Given the description of an element on the screen output the (x, y) to click on. 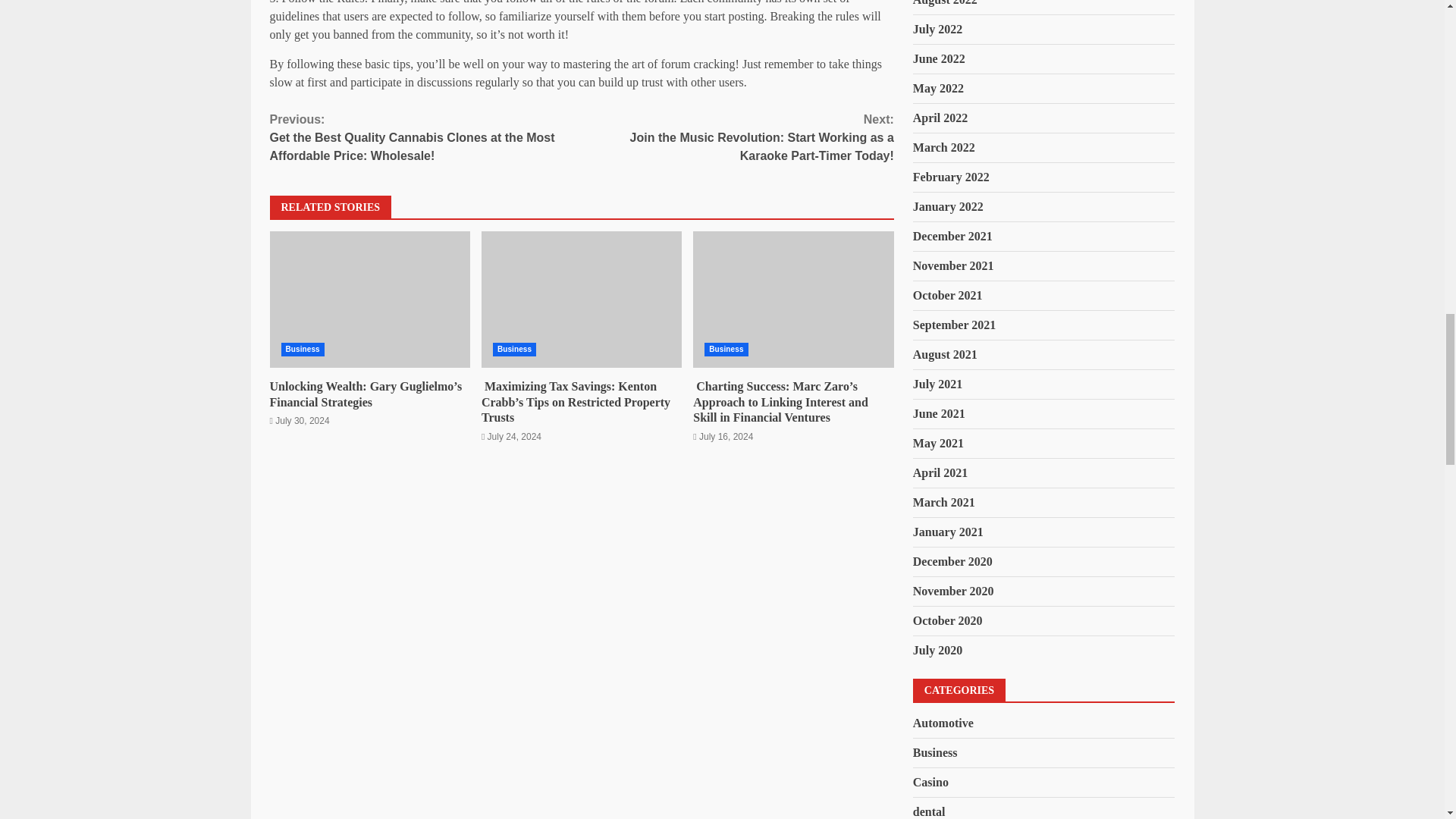
Business (726, 349)
Business (514, 349)
Business (302, 349)
